Given the description of an element on the screen output the (x, y) to click on. 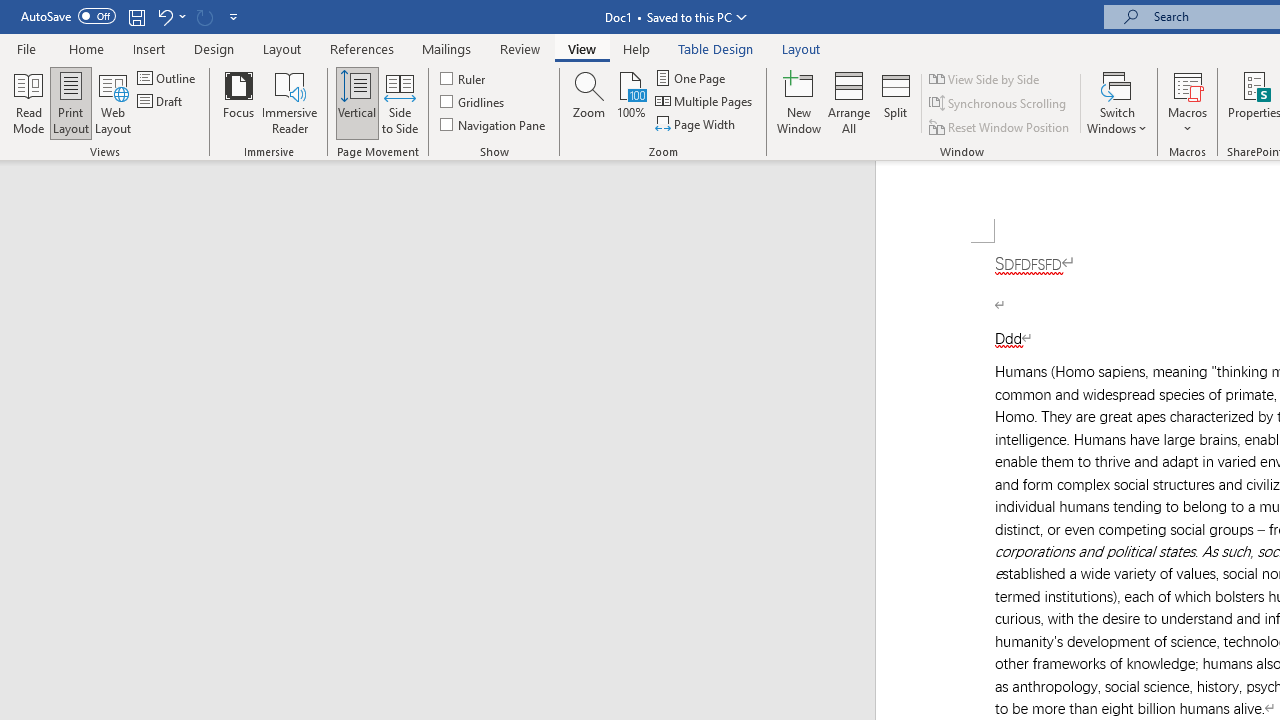
Outline (168, 78)
Vertical (356, 102)
Reset Window Position (1000, 126)
Multiple Pages (705, 101)
Page Width (696, 124)
Can't Repeat (204, 15)
Split (895, 102)
